Given the description of an element on the screen output the (x, y) to click on. 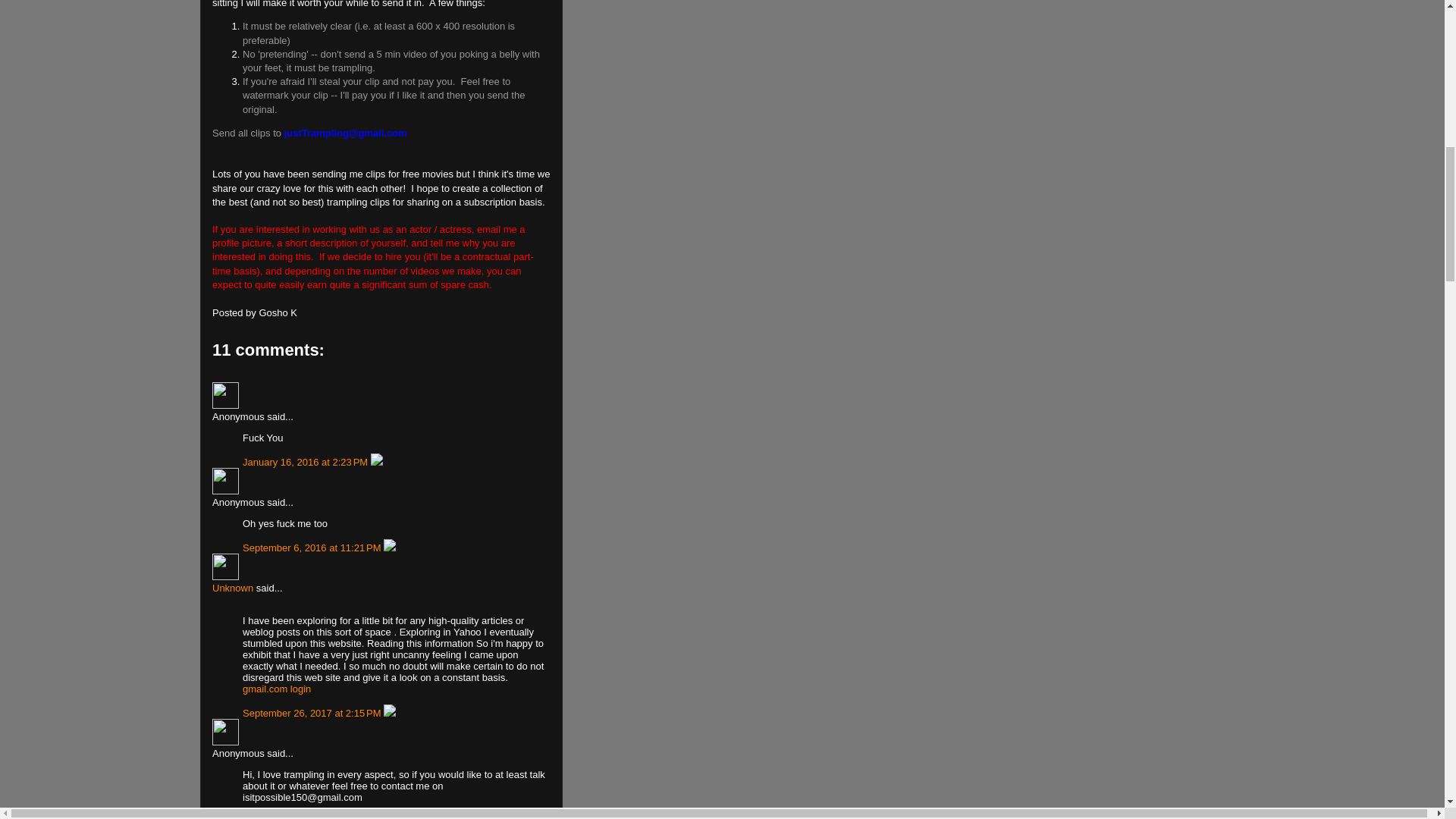
Delete Comment (376, 461)
Delete Comment (390, 713)
Unknown (225, 566)
gmail.com login (277, 688)
Anonymous (225, 732)
Anonymous (225, 395)
Unknown (232, 587)
Delete Comment (390, 547)
Delete Comment (381, 817)
comment permalink (309, 817)
comment permalink (307, 461)
comment permalink (313, 547)
